Given the description of an element on the screen output the (x, y) to click on. 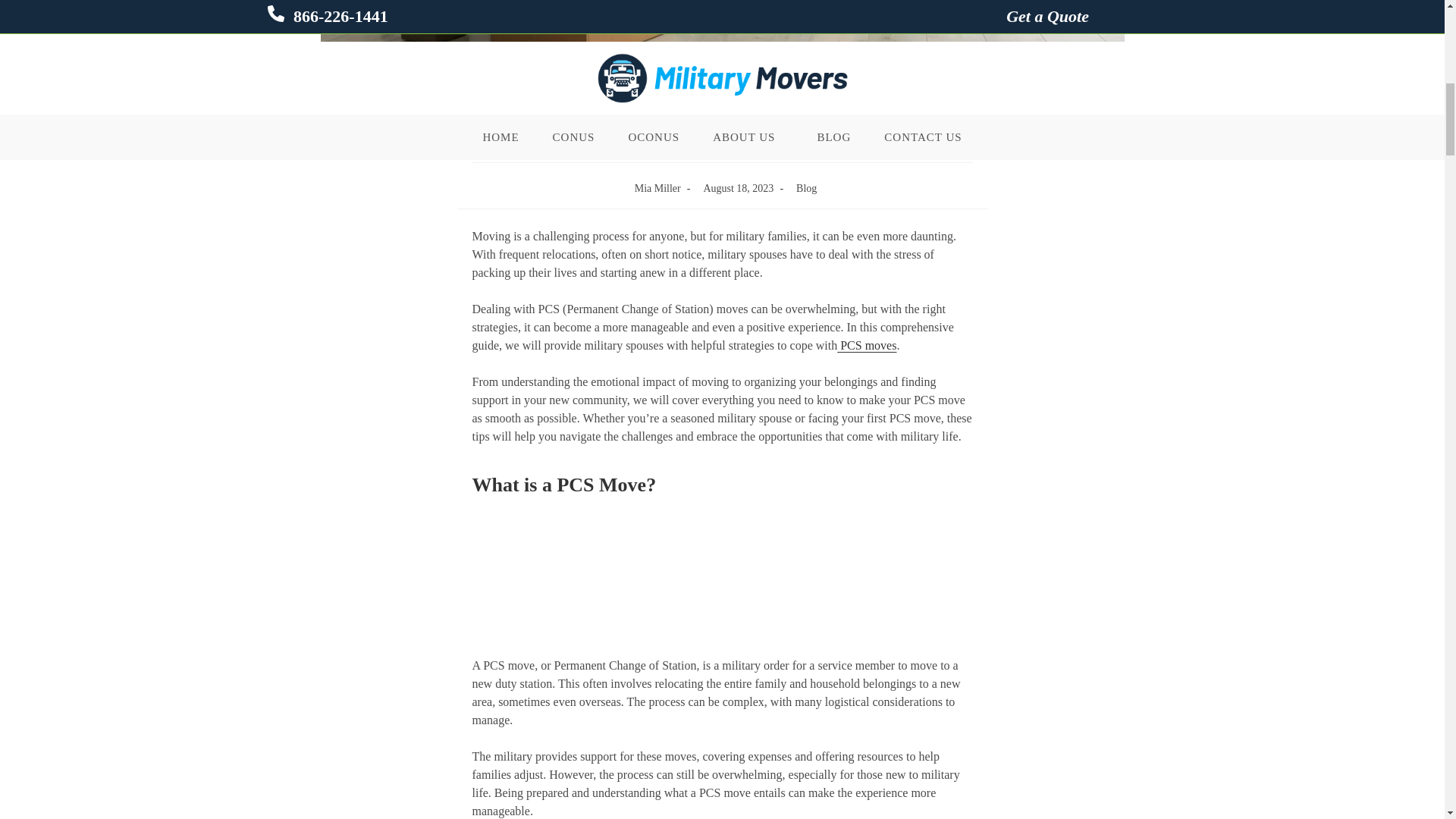
PCS moves (866, 345)
Blog (806, 188)
Mia Miller (657, 188)
Posts by Mia Miller (657, 188)
